Given the description of an element on the screen output the (x, y) to click on. 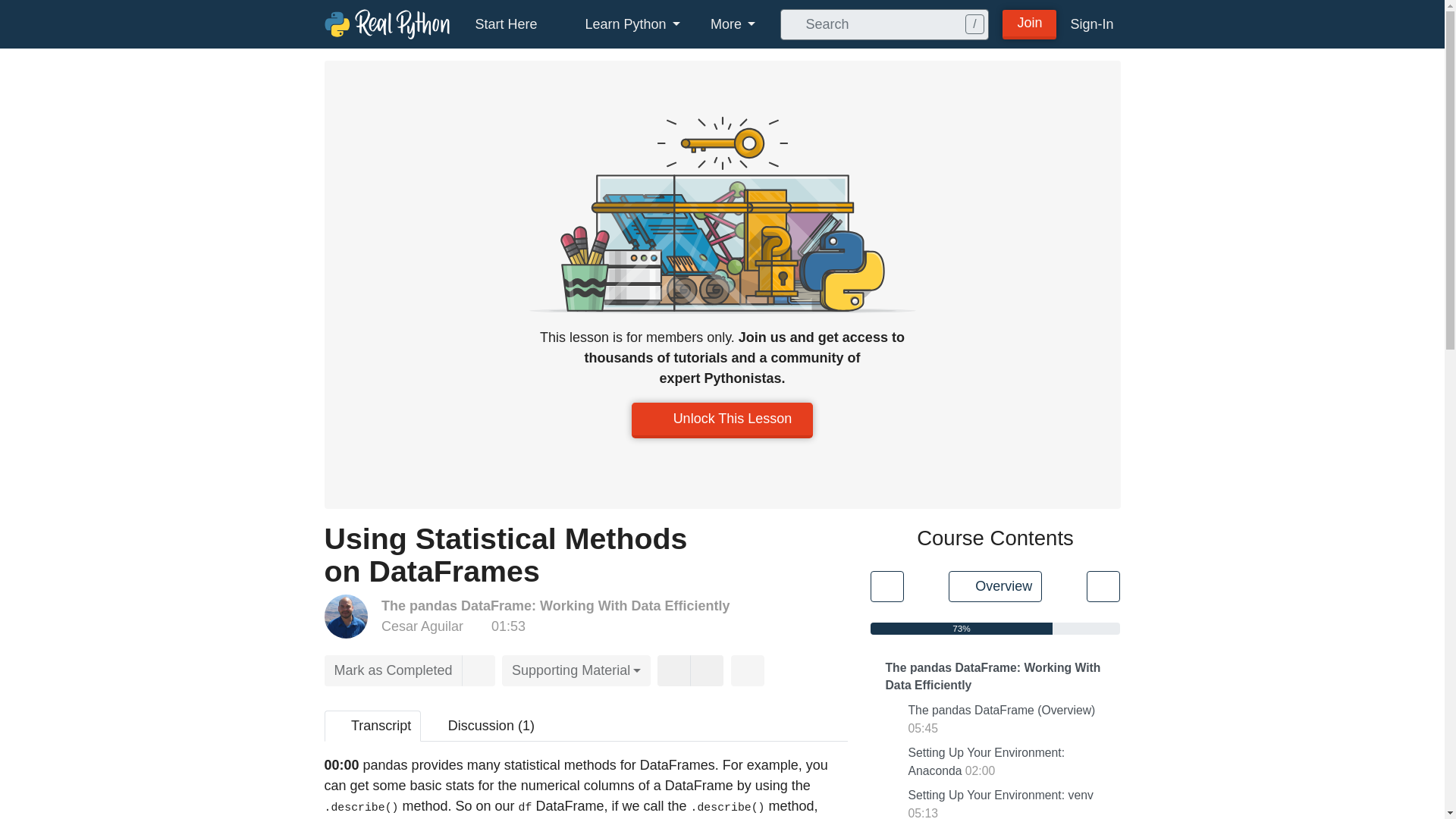
Mark lesson as completed (393, 670)
Liked it (674, 670)
Disliked it (706, 670)
Mark as Completed (393, 670)
Course progress (961, 628)
Join (1030, 23)
Transcript (373, 726)
Start Here (505, 23)
Add bookmark (478, 670)
Unlock This Lesson (722, 420)
